Given the description of an element on the screen output the (x, y) to click on. 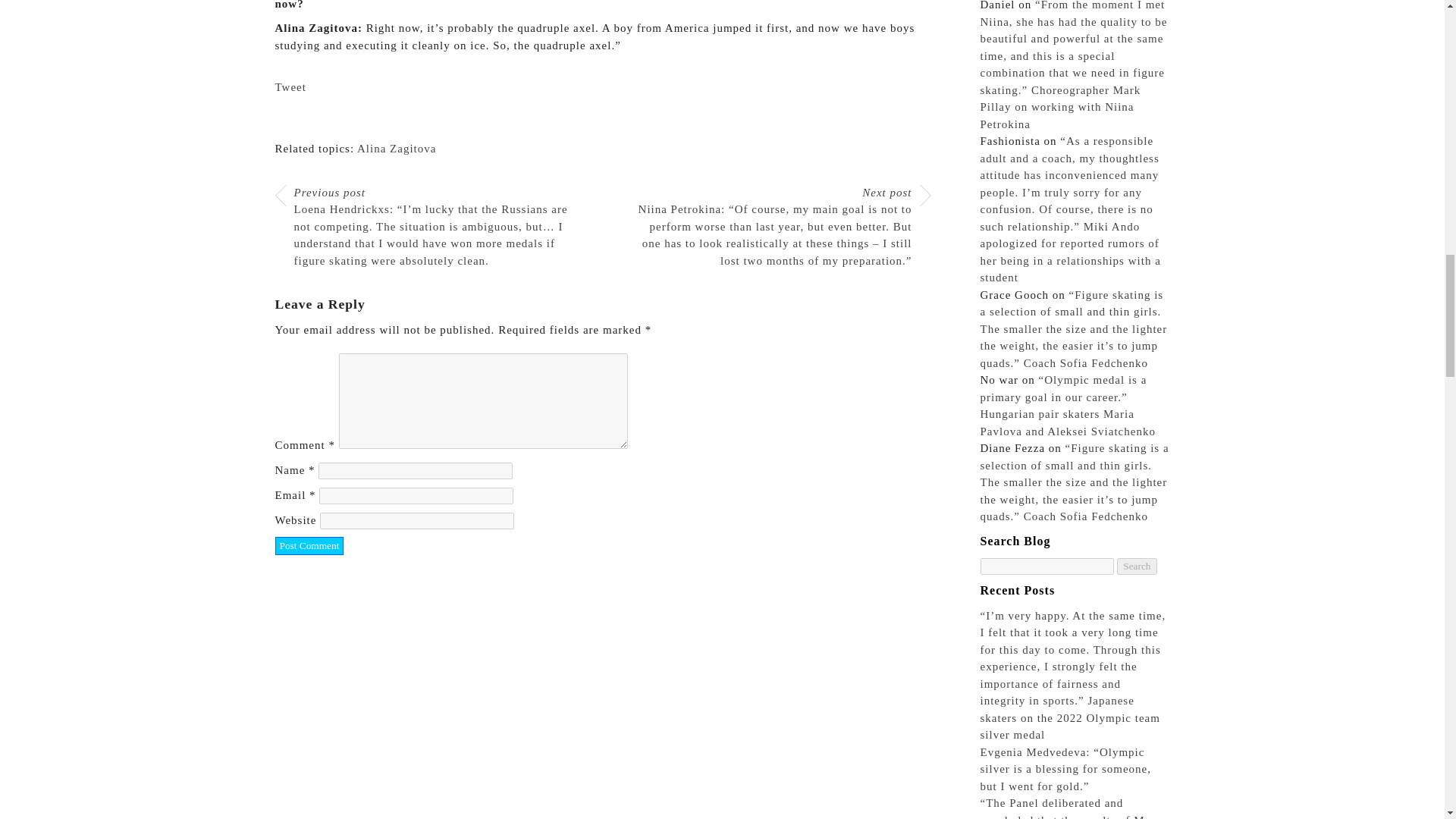
Search (1136, 565)
Tweet (290, 87)
Post Comment (309, 546)
Alina Zagitova (395, 148)
Post Comment (309, 546)
